Given the description of an element on the screen output the (x, y) to click on. 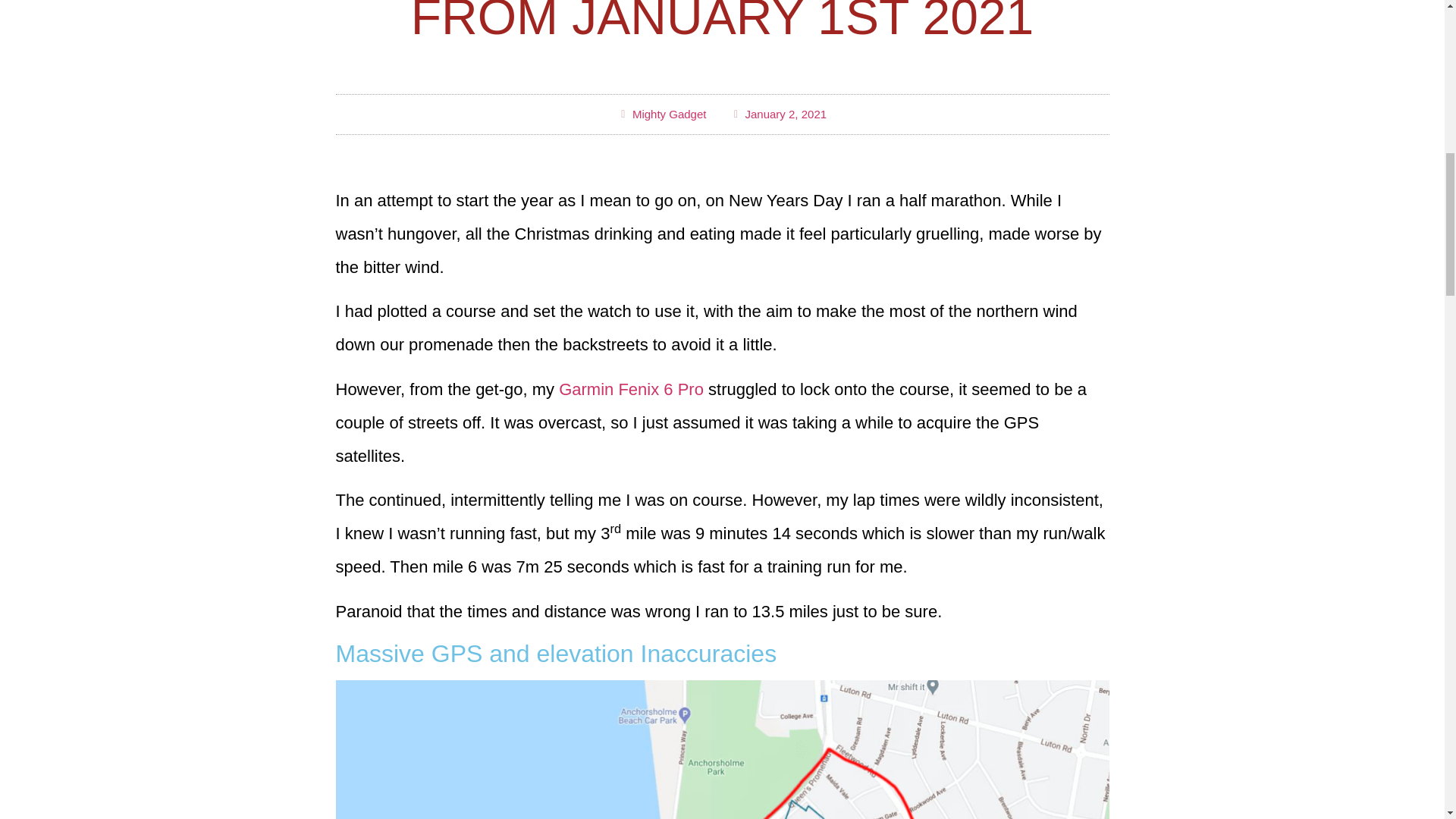
Garmin Fenix 6 Pro (631, 389)
Mighty Gadget (661, 114)
January 2, 2021 (778, 114)
